Given the description of an element on the screen output the (x, y) to click on. 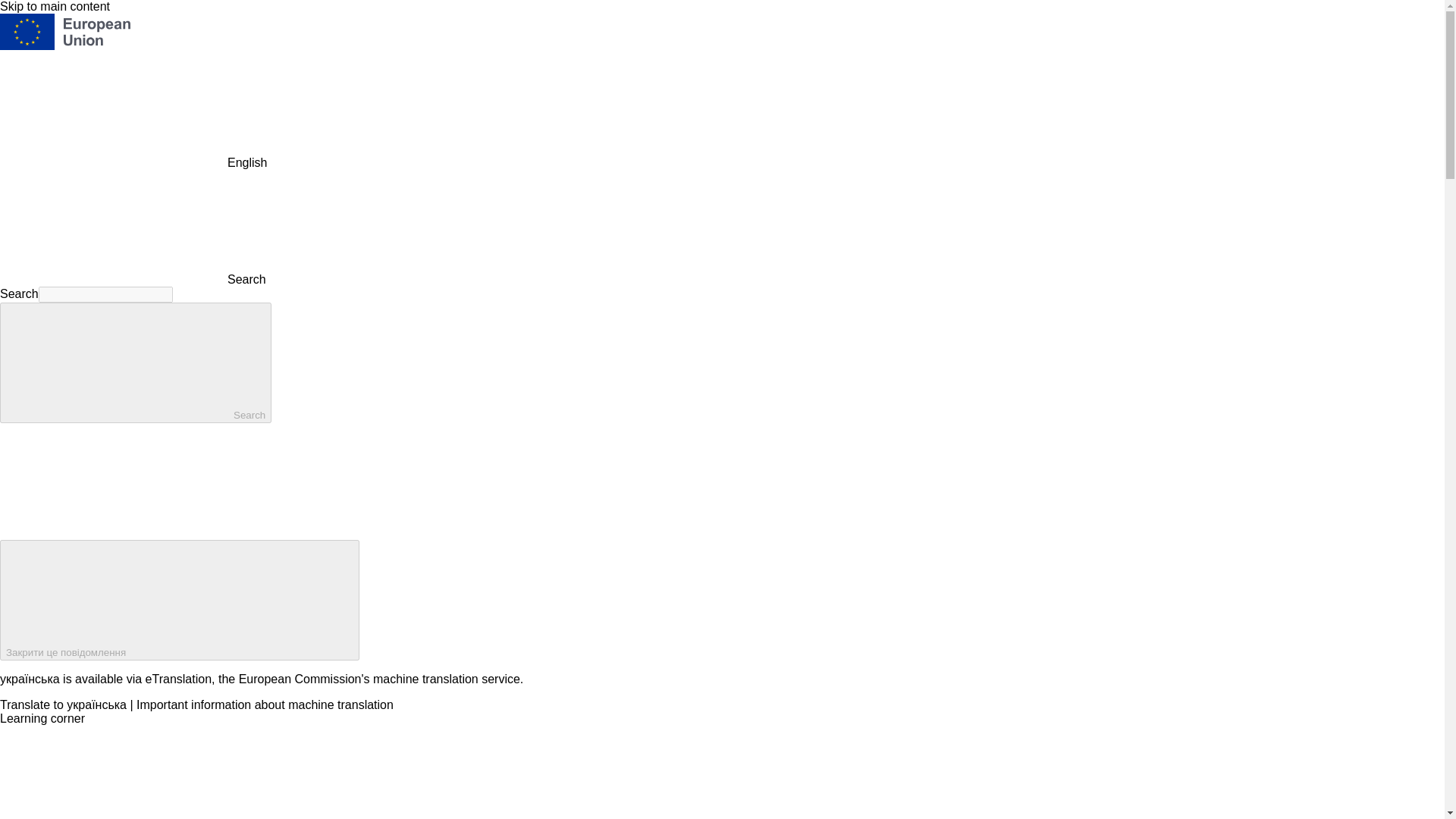
EnglishEnglish (133, 162)
Skip to main content (55, 6)
European Union (65, 45)
English (113, 110)
Important information about machine translation (264, 704)
Search (133, 278)
Search (135, 362)
